Given the description of an element on the screen output the (x, y) to click on. 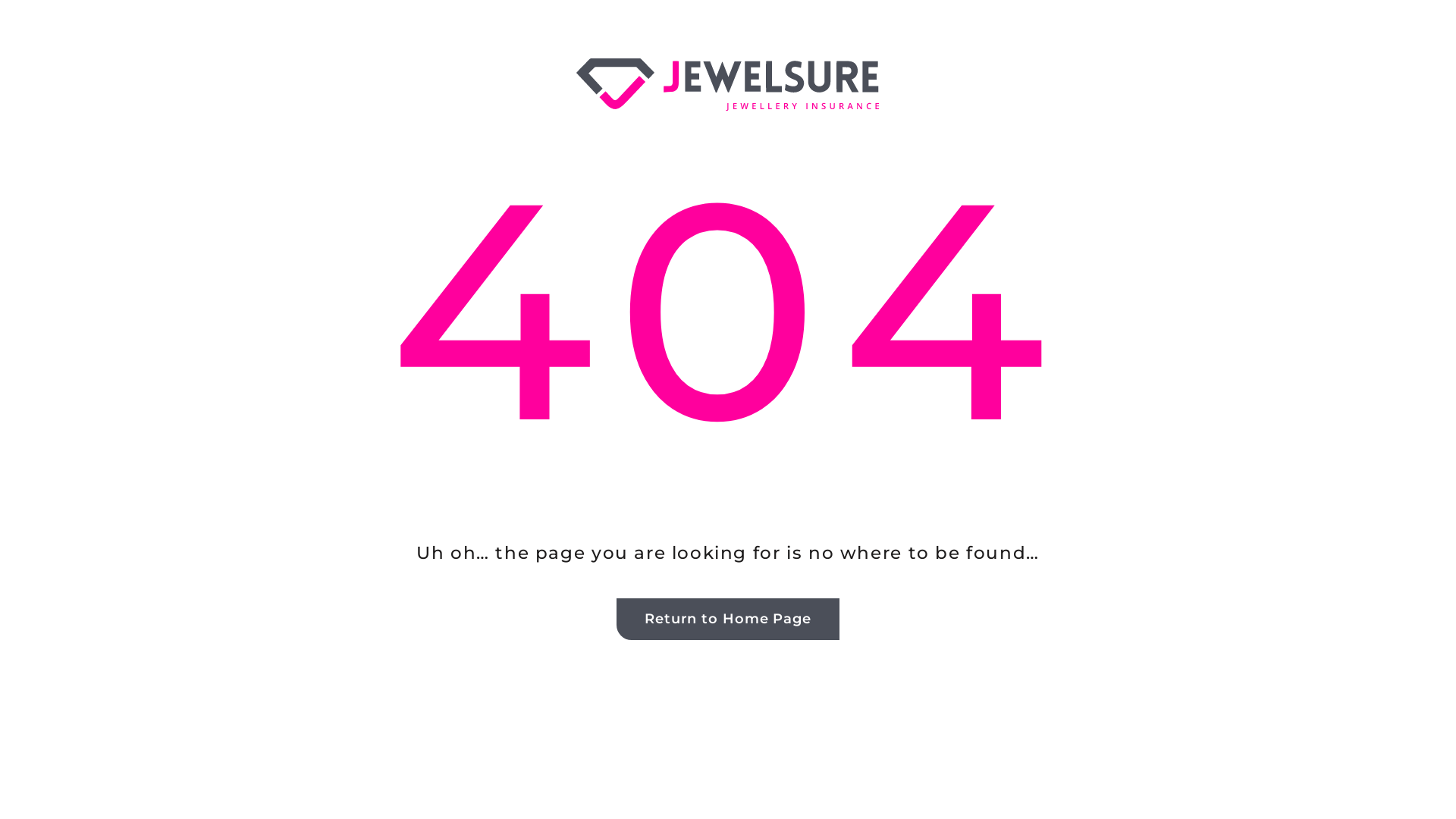
Jewelsure Jewellery Insurance Element type: hover (727, 84)
Return to Home Page Element type: text (727, 619)
